Given the description of an element on the screen output the (x, y) to click on. 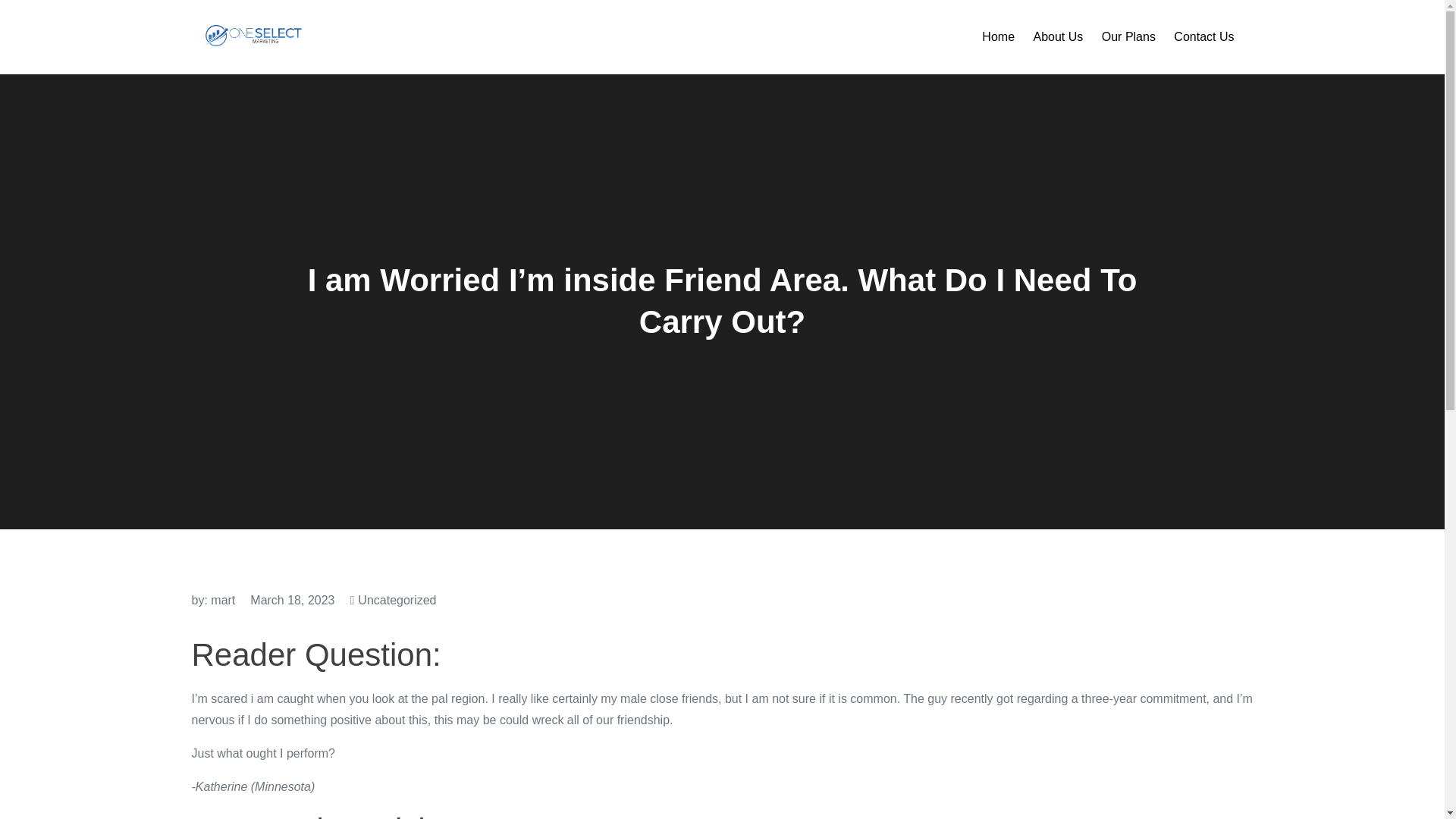
Contact Us (1203, 36)
mart (222, 599)
About Us (1057, 36)
Home (998, 36)
Uncategorized (396, 599)
One Select LLC (393, 45)
March 18, 2023 (292, 599)
Our Plans (1128, 36)
